Given the description of an element on the screen output the (x, y) to click on. 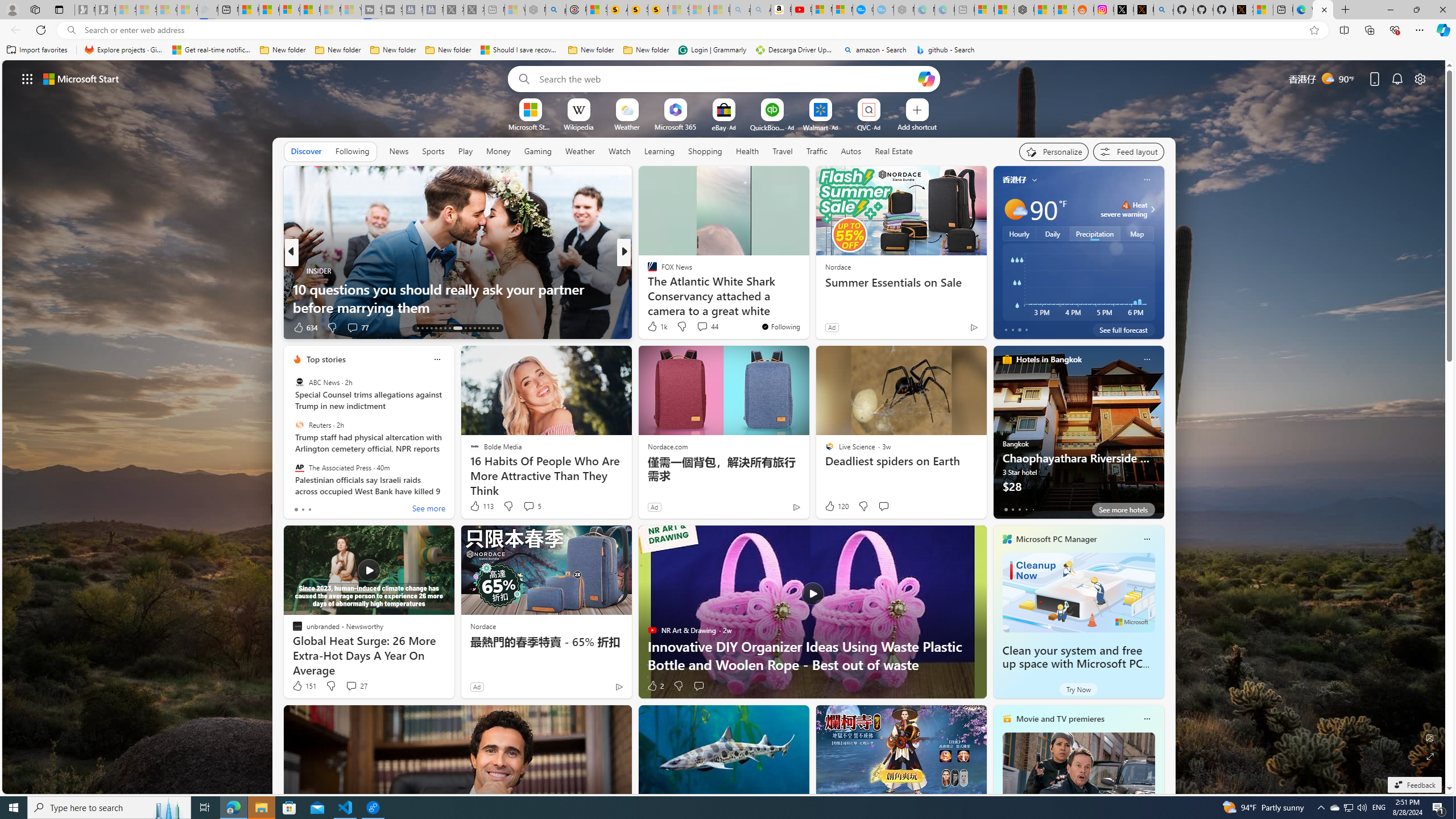
You're following FOX News (780, 326)
AutomationID: tab-27 (488, 328)
Mostly sunny (1014, 208)
Nordace - Nordace has arrived Hong Kong - Sleeping (903, 9)
App launcher (27, 78)
Login | Grammarly (712, 49)
